Given the description of an element on the screen output the (x, y) to click on. 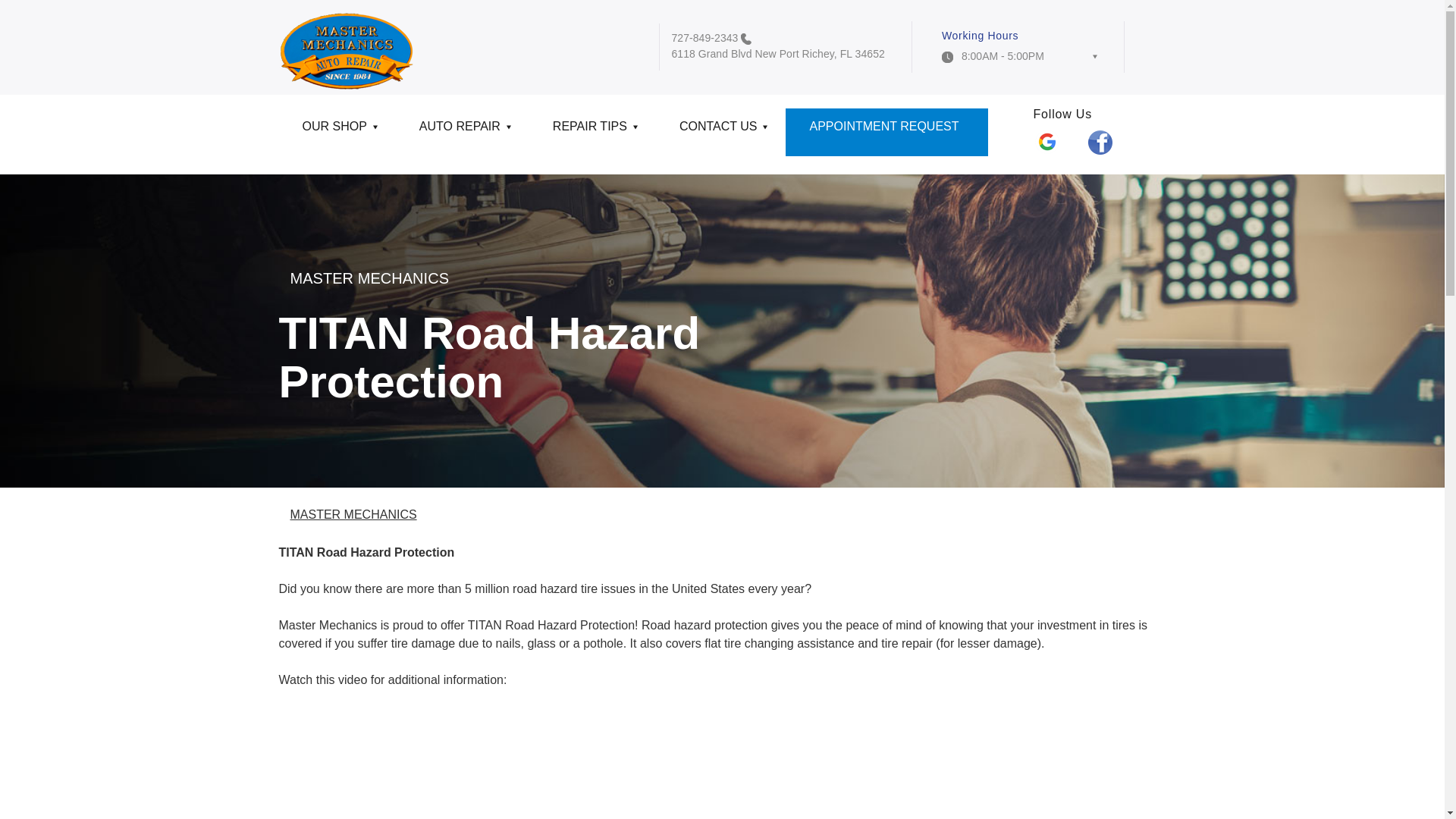
CONTACT US (721, 132)
8:00AM - 5:00PM (1019, 60)
YouTube video player (491, 763)
REPAIR TIPS (592, 132)
OUR SHOP (337, 132)
727-849-2343 (704, 37)
APPOINTMENT REQUEST (886, 132)
AUTO REPAIR (462, 132)
